Given the description of an element on the screen output the (x, y) to click on. 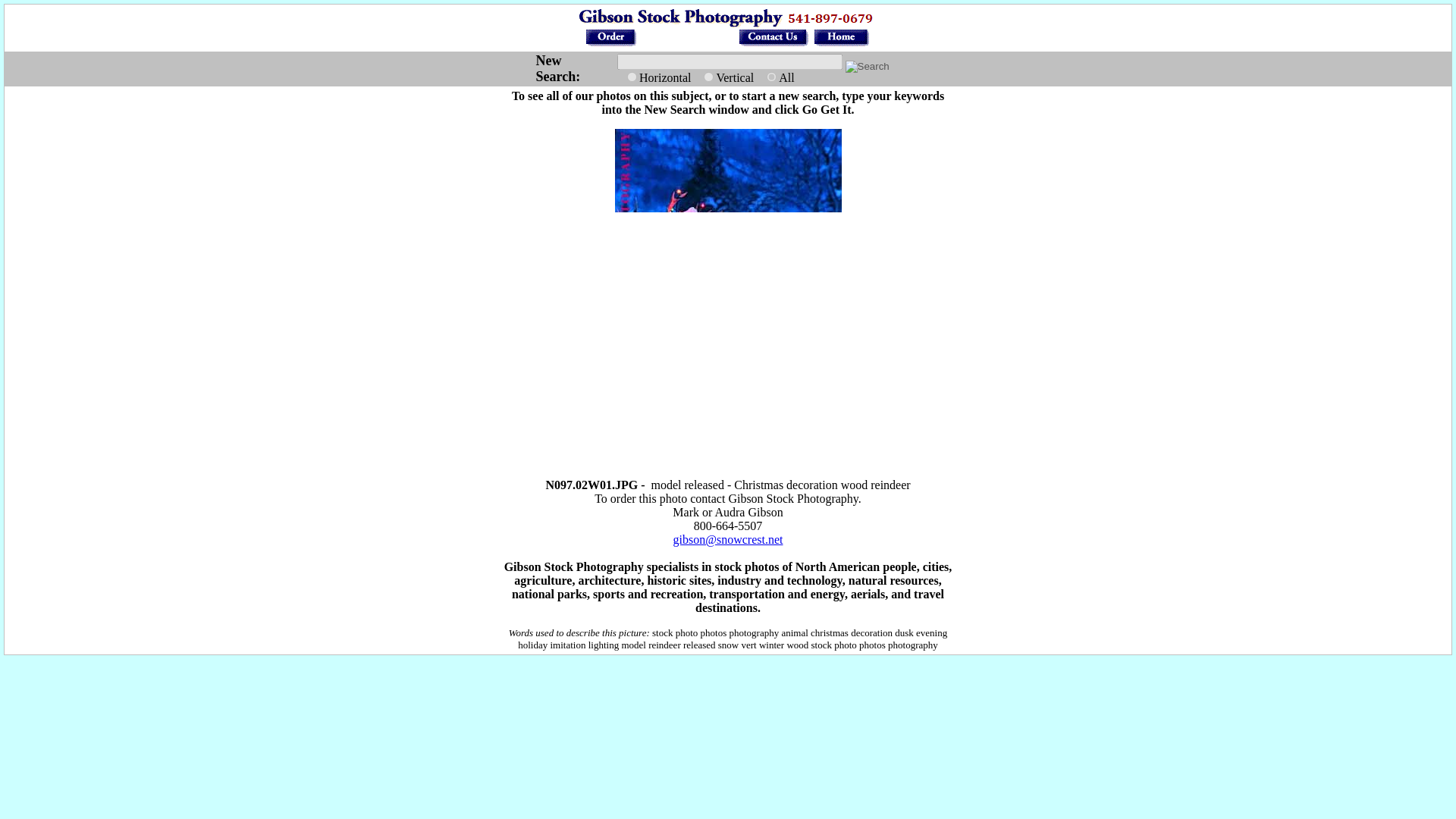
v (708, 76)
h (632, 76)
all (771, 76)
